Given the description of an element on the screen output the (x, y) to click on. 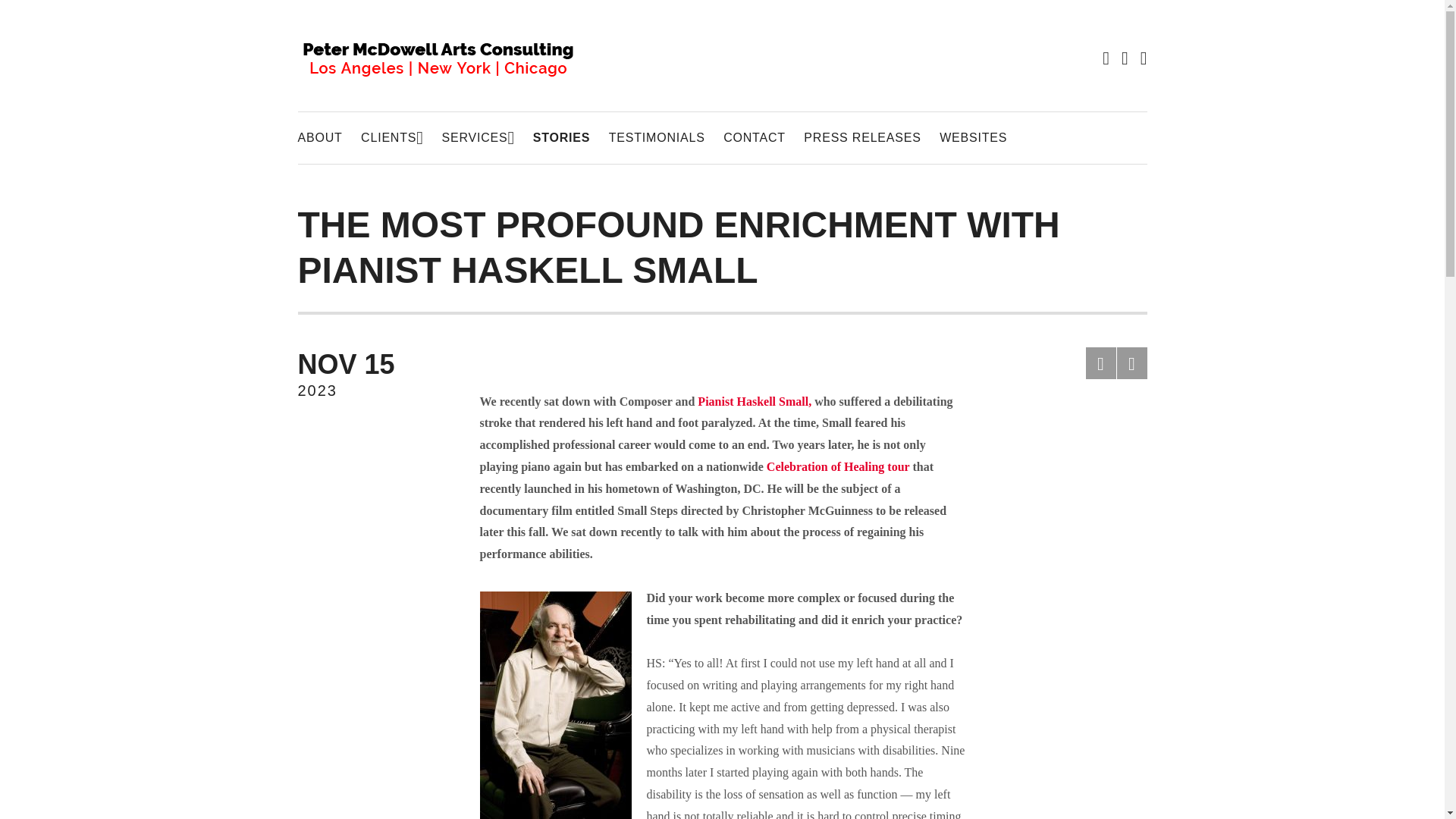
PRESS RELEASES (861, 137)
ABOUT (319, 137)
WEBSITES (973, 137)
TESTIMONIALS (656, 137)
Celebration of Healing tour (838, 466)
Previous: A neglected concerto finds new life in NYC (392, 137)
CONTACT (369, 374)
STORIES (477, 137)
Pianist Haskell Small, (1101, 363)
